Given the description of an element on the screen output the (x, y) to click on. 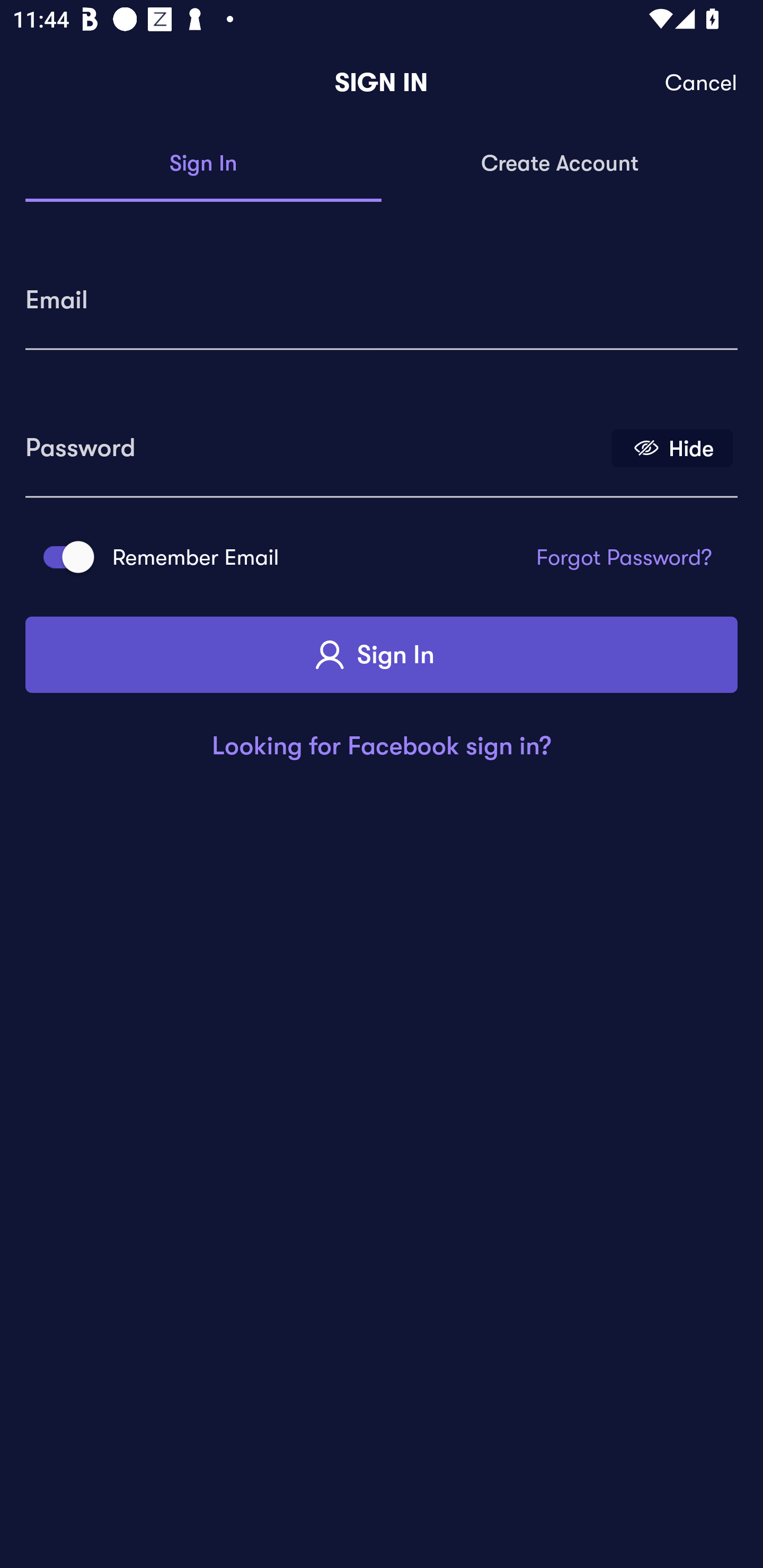
Cancel (701, 82)
Sign In (203, 164)
Create Account (559, 164)
Email (381, 293)
Password (314, 441)
Show Password Hide (671, 447)
Remember Email (62, 557)
Sign In (381, 654)
